Given the description of an element on the screen output the (x, y) to click on. 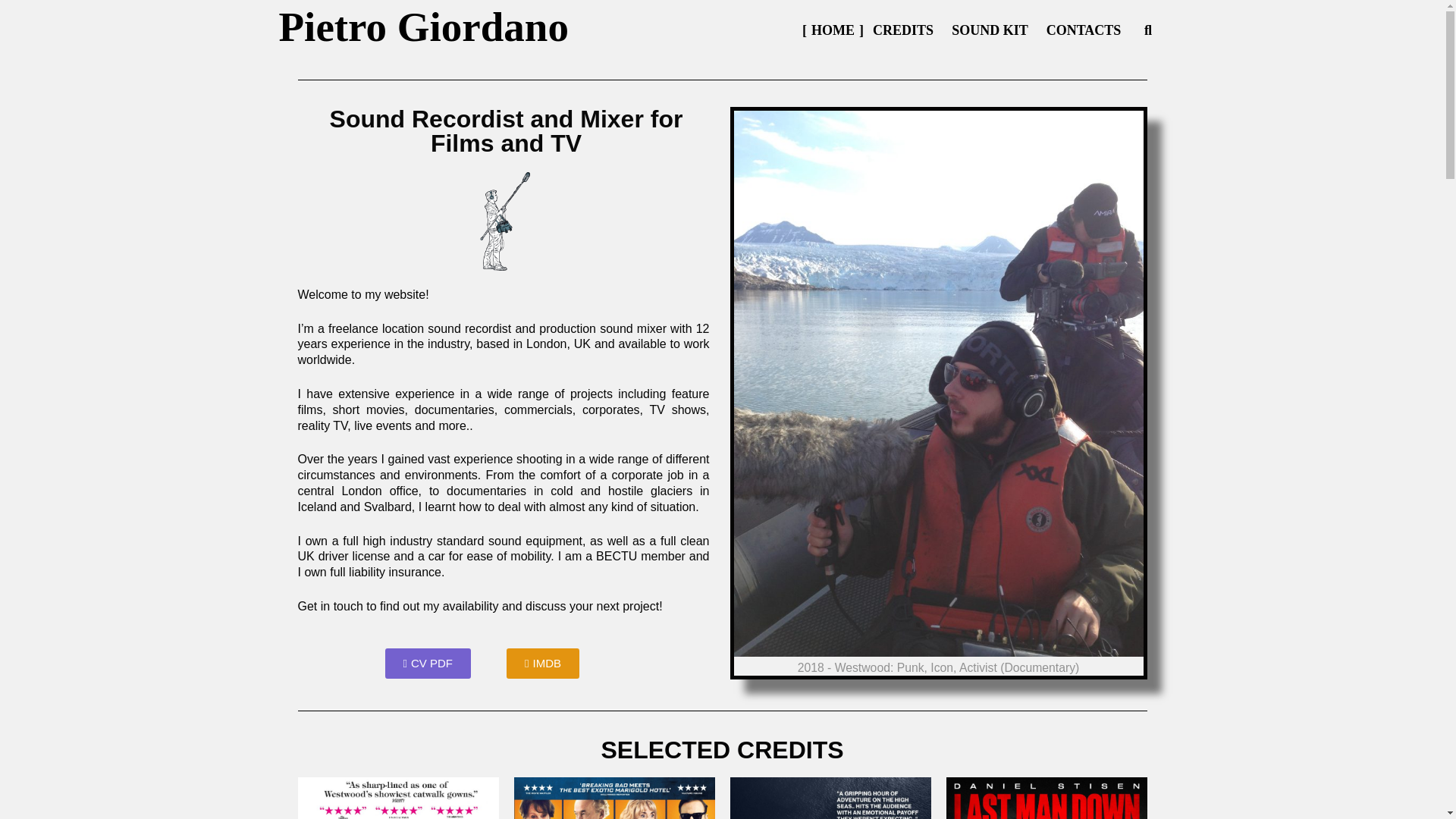
CREDITS (902, 30)
SOUND KIT (989, 30)
Pietro Giordano (424, 26)
CONTACTS (1083, 30)
HOME (832, 30)
Search (181, 30)
